Given the description of an element on the screen output the (x, y) to click on. 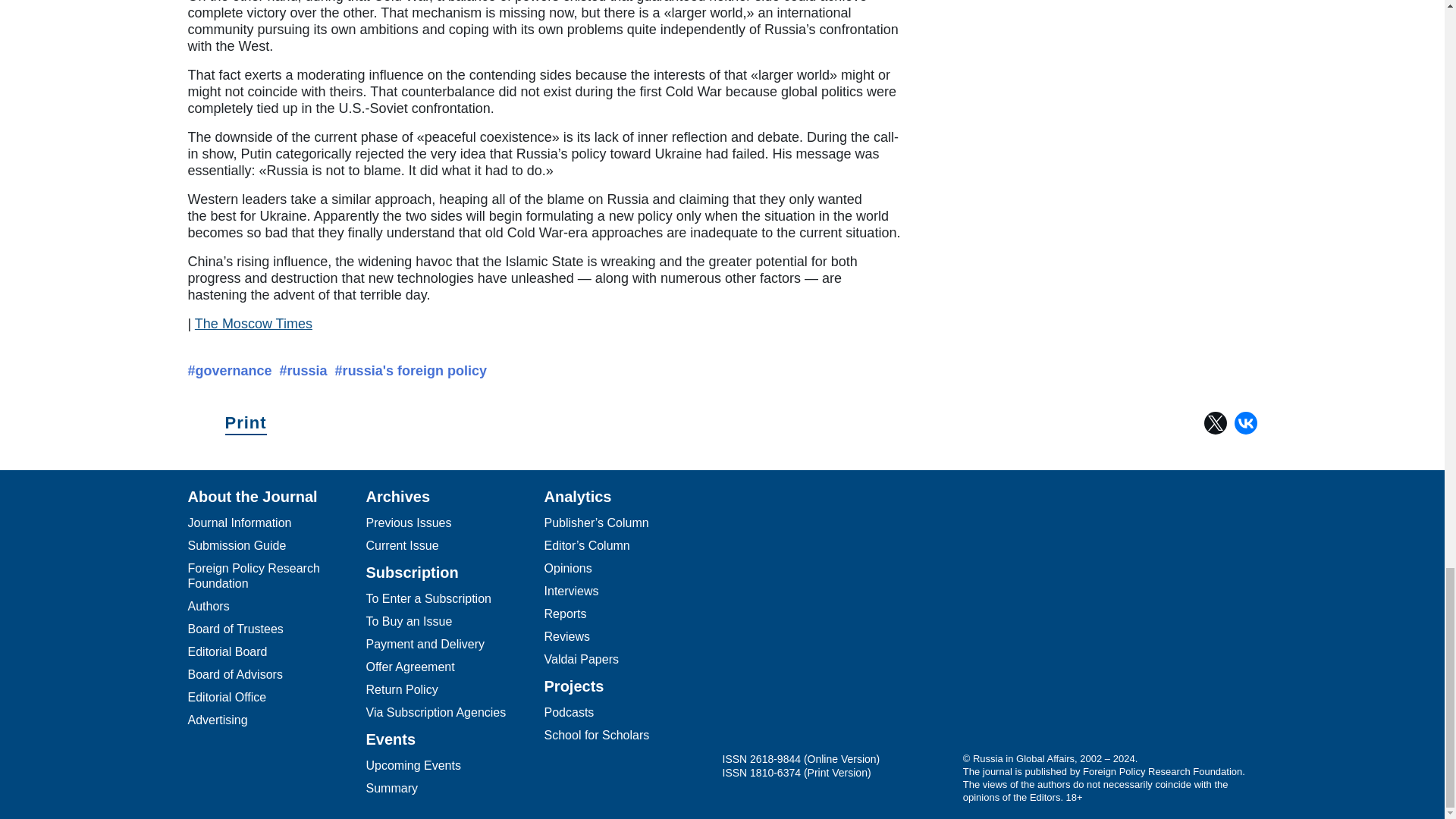
Vkontakte (865, 627)
Telegram (744, 627)
RSS (926, 627)
Twitter (805, 627)
Twitter (1215, 422)
